Given the description of an element on the screen output the (x, y) to click on. 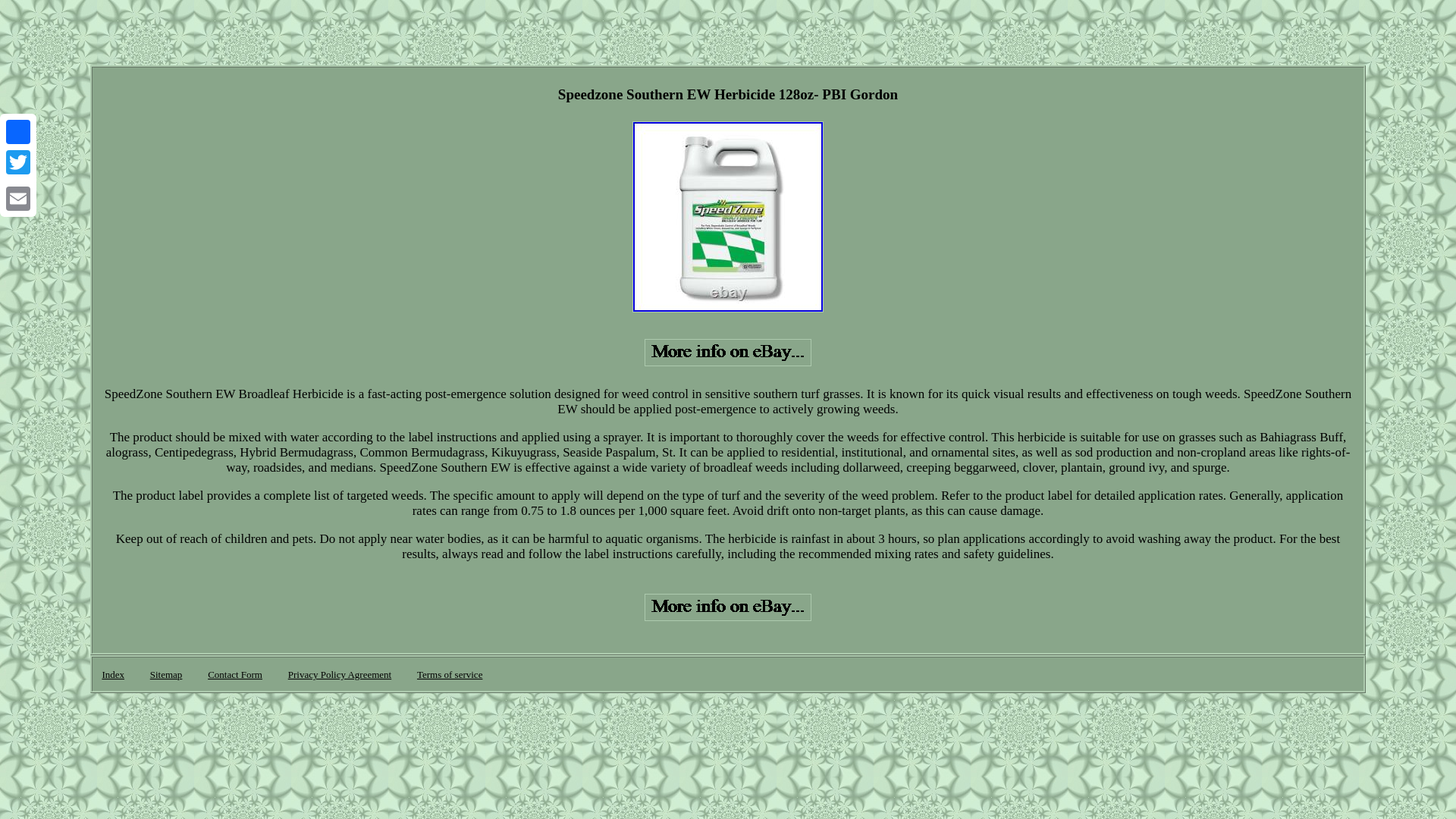
Email (17, 198)
Speedzone Southern EW Herbicide 128oz- PBI Gordon (727, 606)
Speedzone Southern EW Herbicide 128oz- PBI Gordon (727, 216)
Facebook (17, 132)
Speedzone Southern EW Herbicide 128oz- PBI Gordon (727, 352)
Twitter (17, 162)
